Given the description of an element on the screen output the (x, y) to click on. 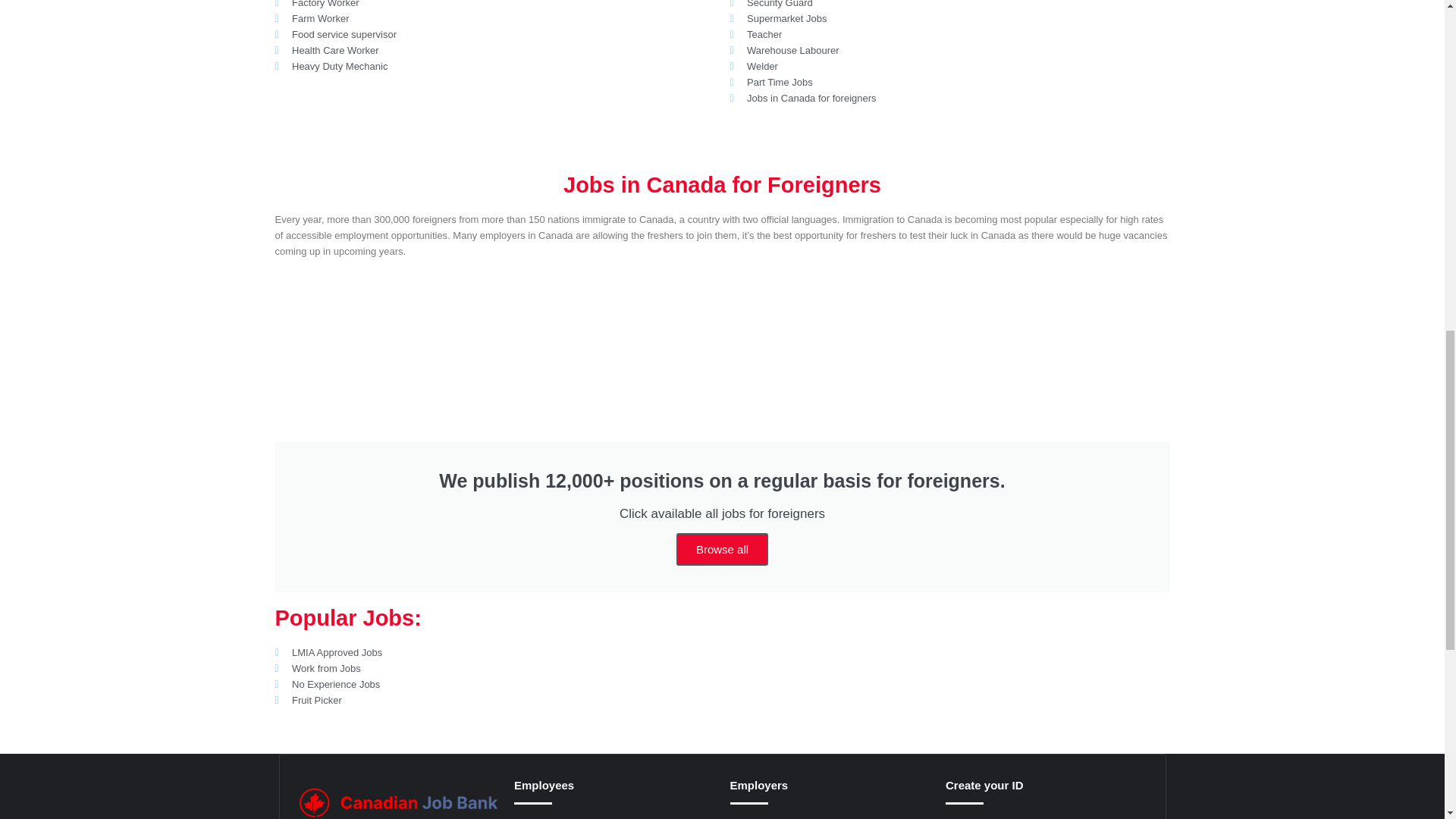
Factory Worker (494, 5)
Farm Worker (494, 18)
Food service supervisor (494, 34)
Heavy Duty Mechanic (494, 66)
Health Care Worker (494, 50)
